Given the description of an element on the screen output the (x, y) to click on. 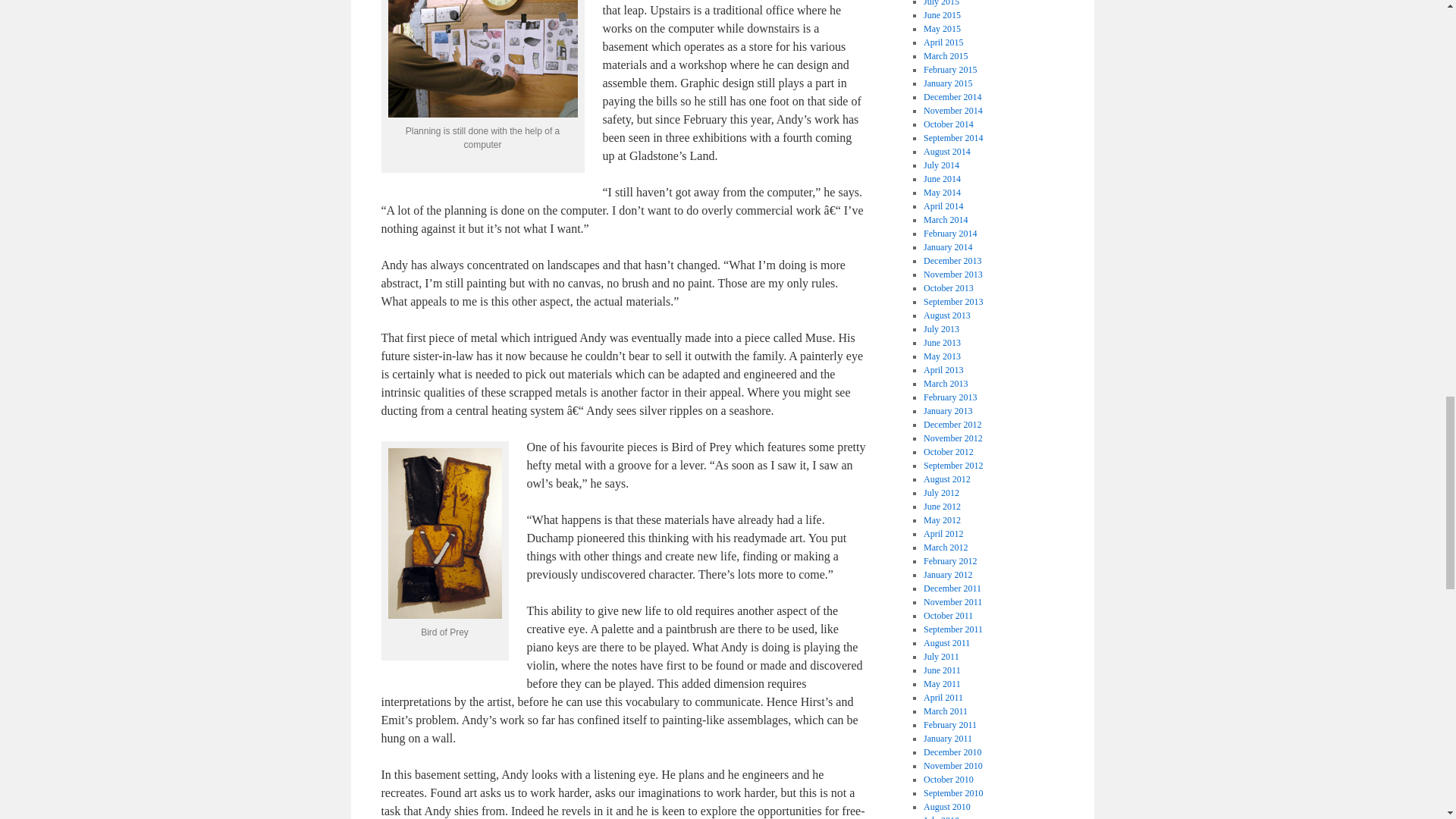
planning (483, 58)
